Given the description of an element on the screen output the (x, y) to click on. 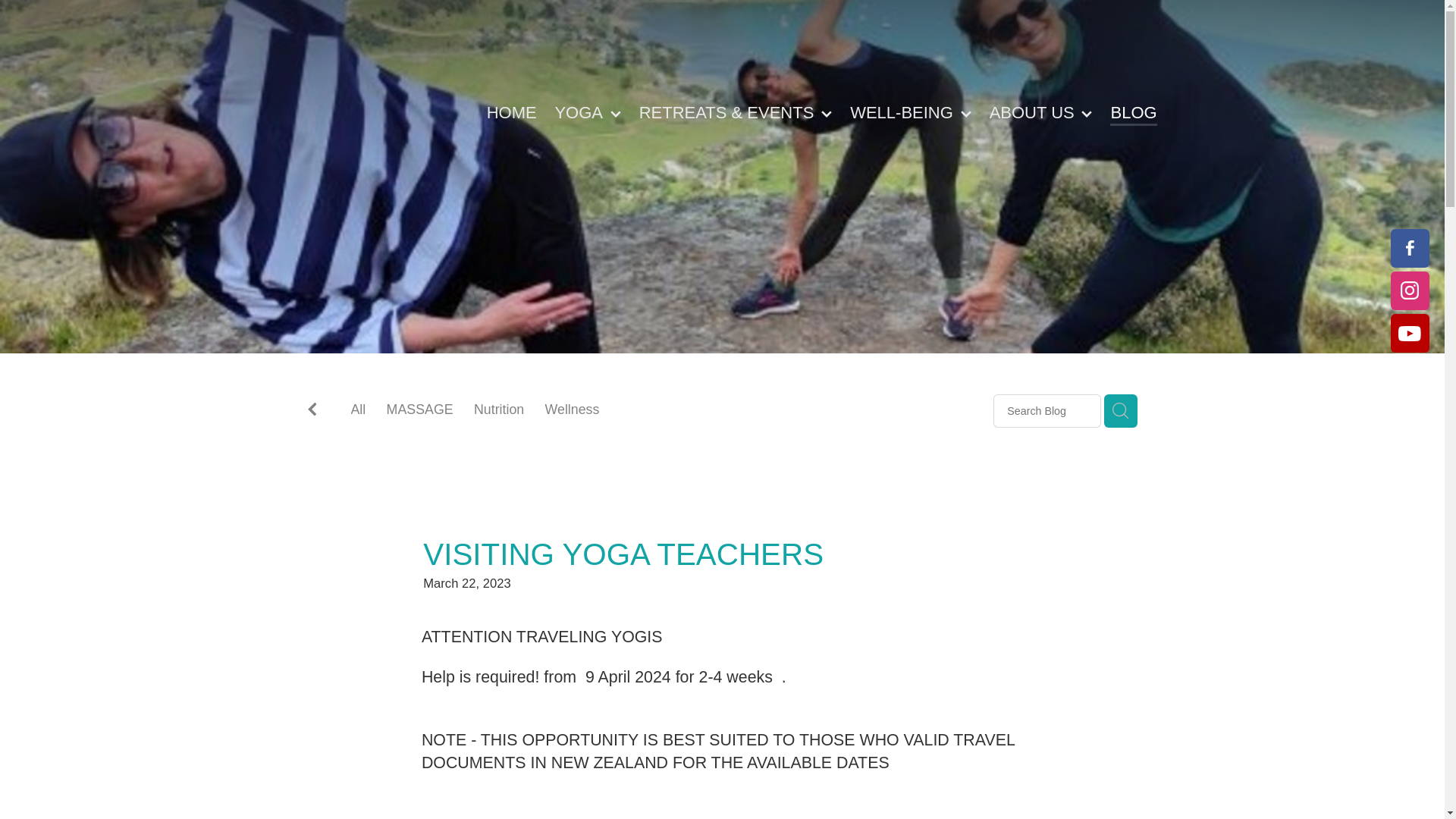
WELL-BEING (910, 112)
Wellness (571, 411)
ABOUT US (1040, 112)
HOME (511, 112)
All (357, 409)
A link to this website's Facebook. (1409, 248)
BLOG (1134, 112)
Nutrition (499, 411)
A link to this website's Instagram. (1409, 290)
MASSAGE (419, 411)
